Given the description of an element on the screen output the (x, y) to click on. 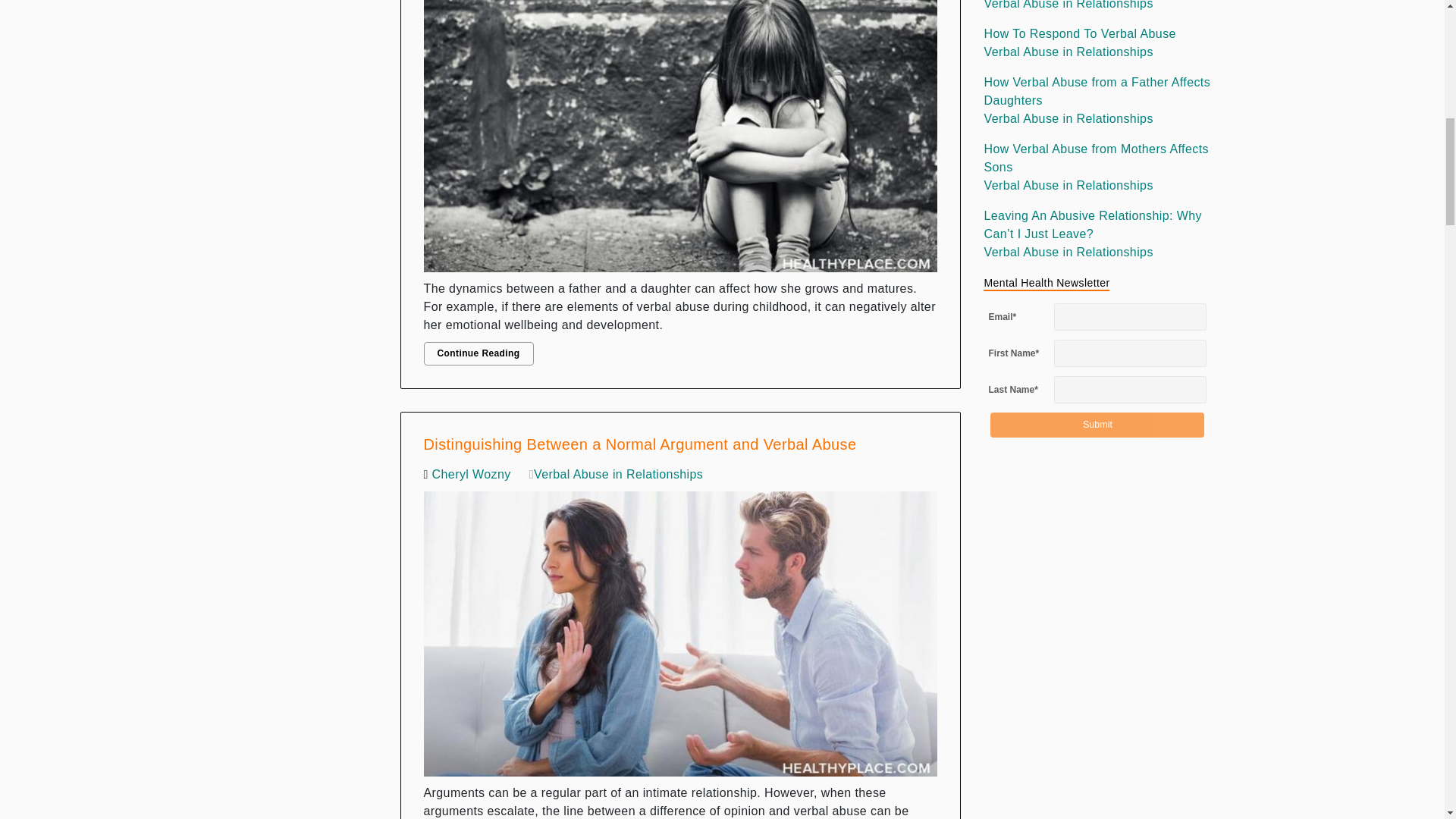
Submit (1097, 424)
